Given the description of an element on the screen output the (x, y) to click on. 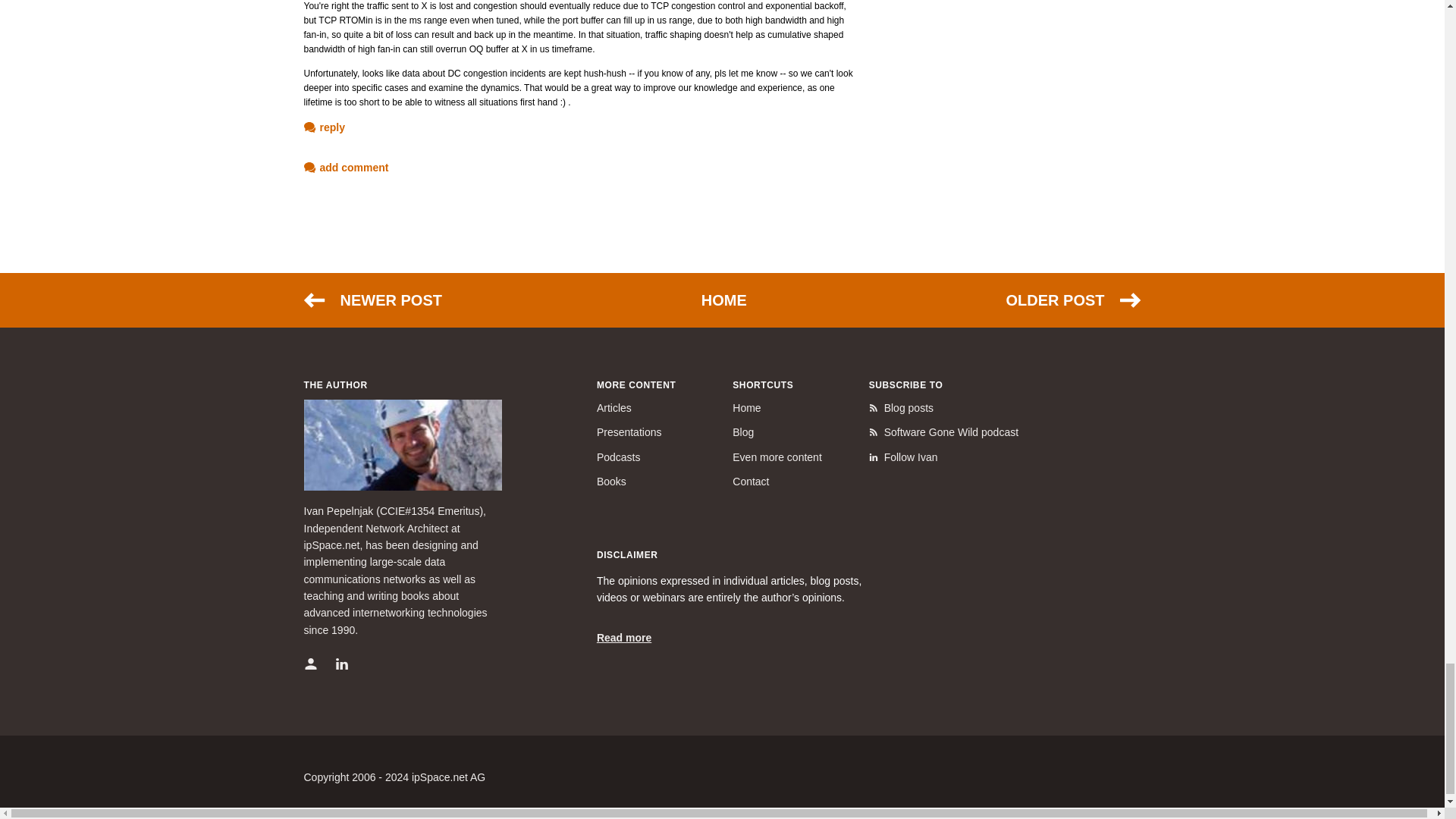
Older Post (1073, 300)
Newer Post (371, 300)
